Given the description of an element on the screen output the (x, y) to click on. 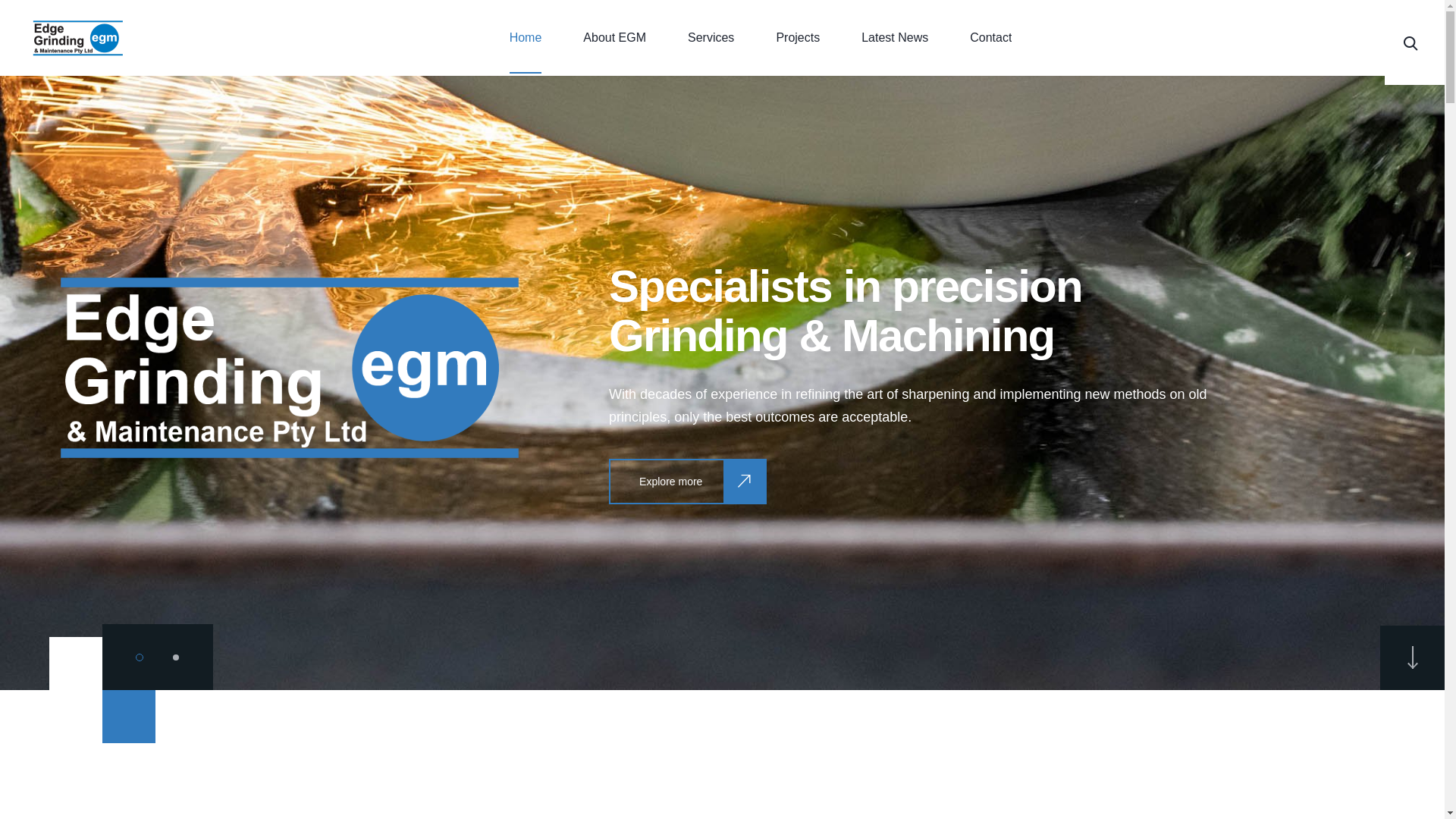
Explore more Element type: text (687, 481)
Contact Element type: text (990, 37)
Projects Element type: text (797, 37)
Home Element type: text (525, 37)
Latest News Element type: text (894, 37)
About EGM Element type: text (614, 37)
Services Element type: text (710, 37)
